Given the description of an element on the screen output the (x, y) to click on. 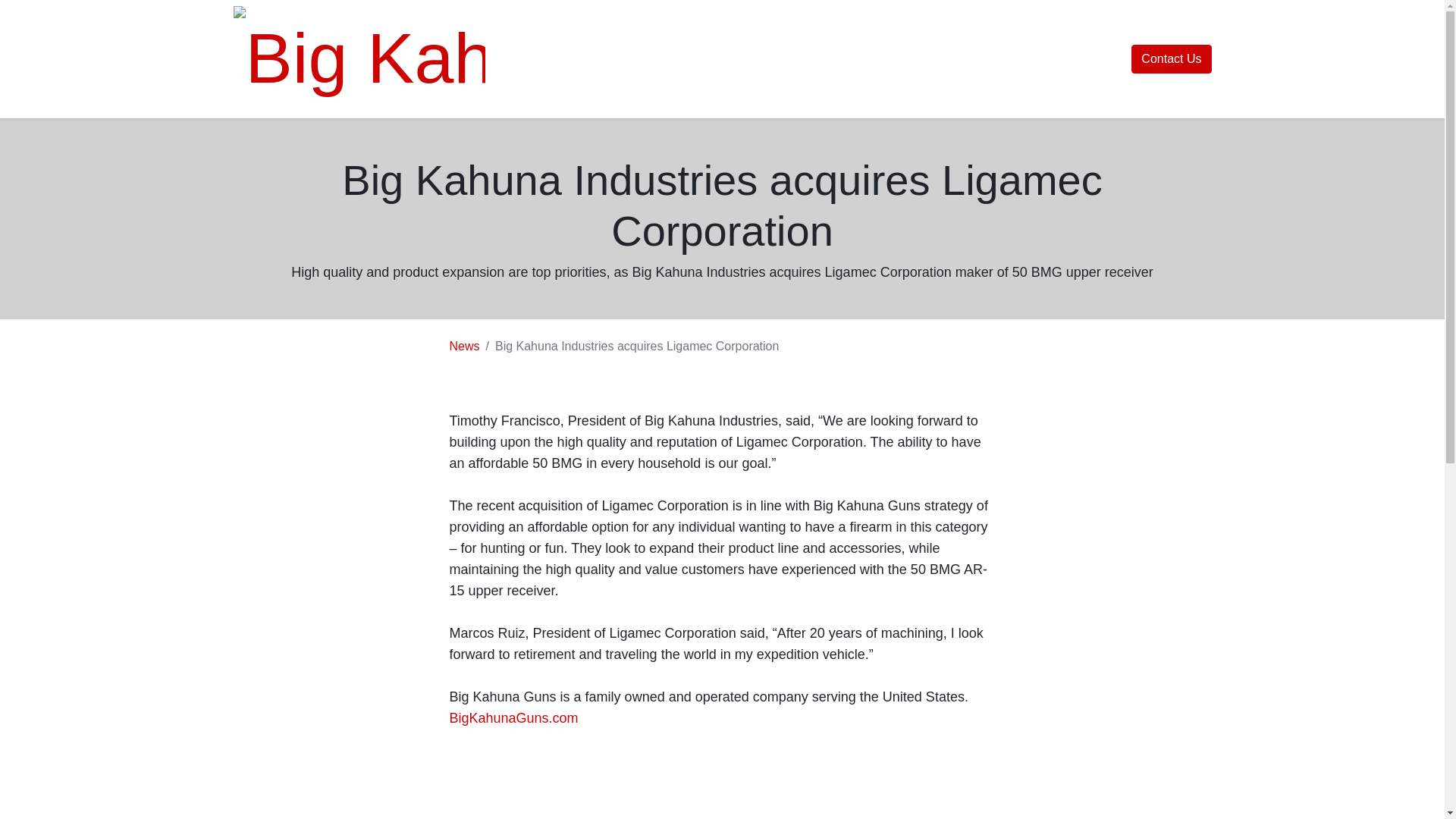
News (463, 345)
Big Kahuna Guns (359, 58)
BigKahunaGuns.com (513, 717)
Contact Us (1171, 59)
